Given the description of an element on the screen output the (x, y) to click on. 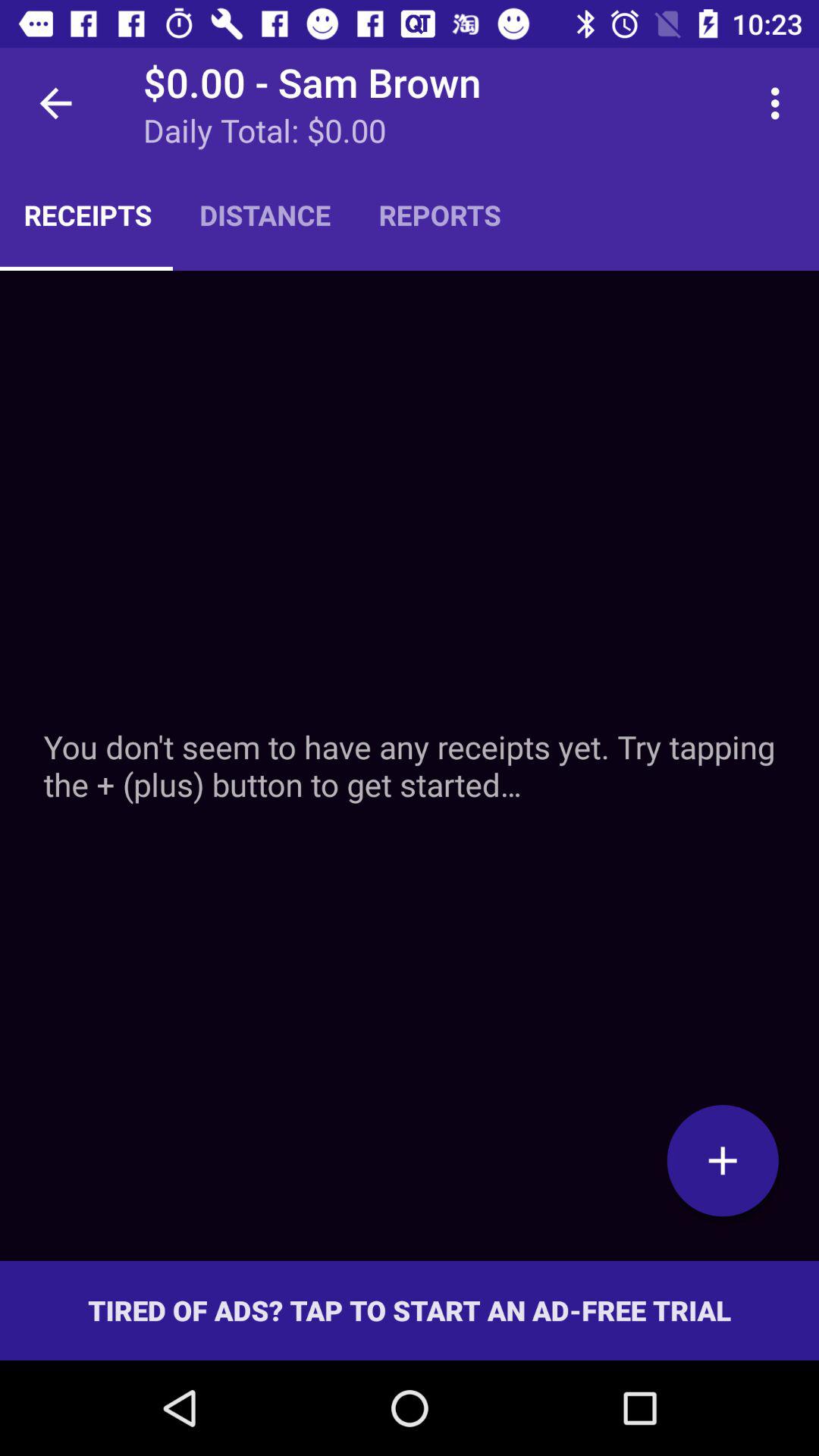
choose item to the left of the reports (264, 214)
